Given the description of an element on the screen output the (x, y) to click on. 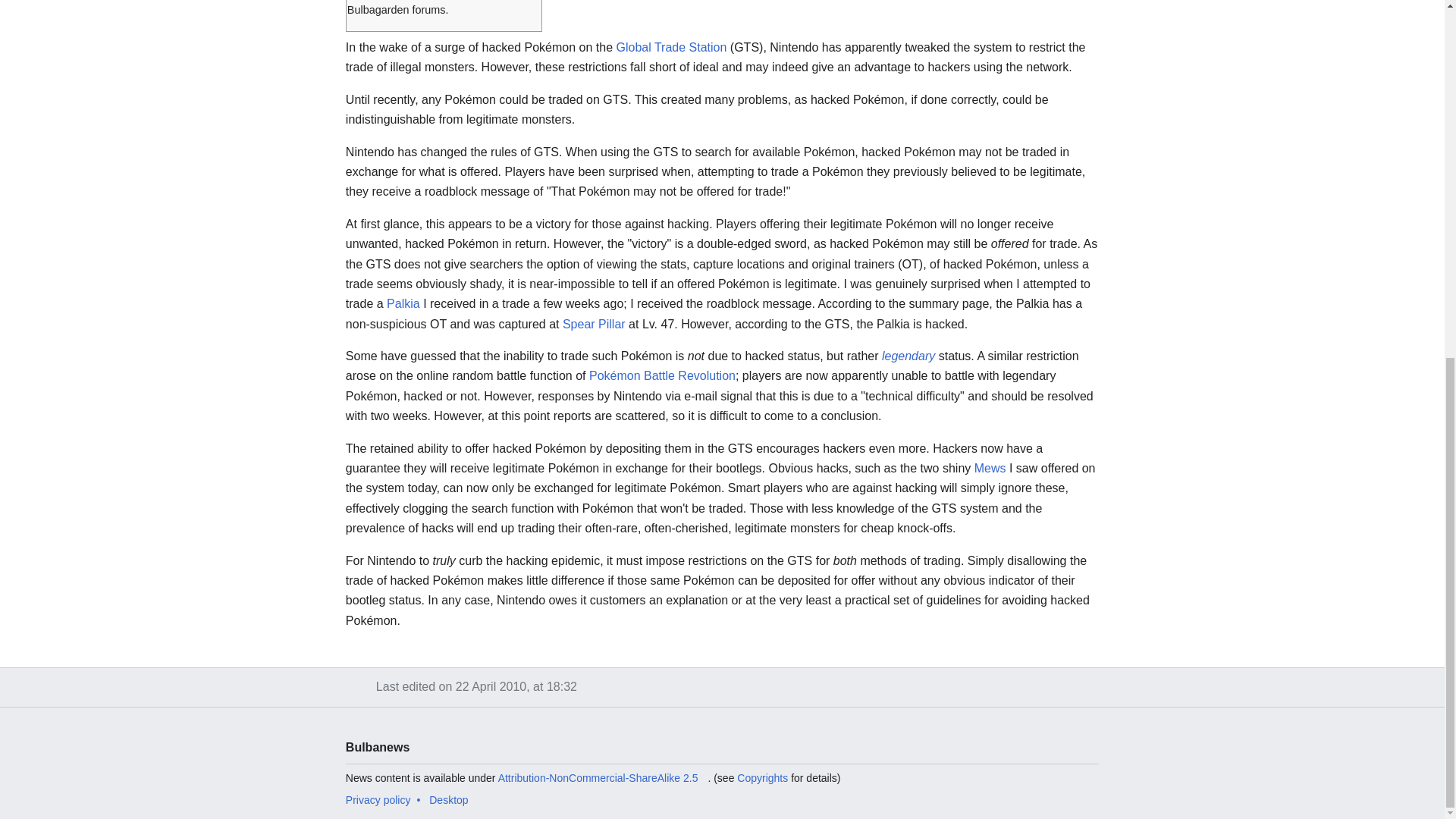
Global Trade Station (670, 47)
Attribution-NonCommercial-ShareAlike 2.5 (602, 777)
Copyrights (761, 777)
Spear Pillar (594, 323)
Palkia (403, 303)
Privacy policy (378, 799)
legendary (908, 355)
bp:Spear Pillar (594, 323)
Mews (990, 468)
Desktop (448, 799)
bp:Global Trade Station (670, 47)
